Given the description of an element on the screen output the (x, y) to click on. 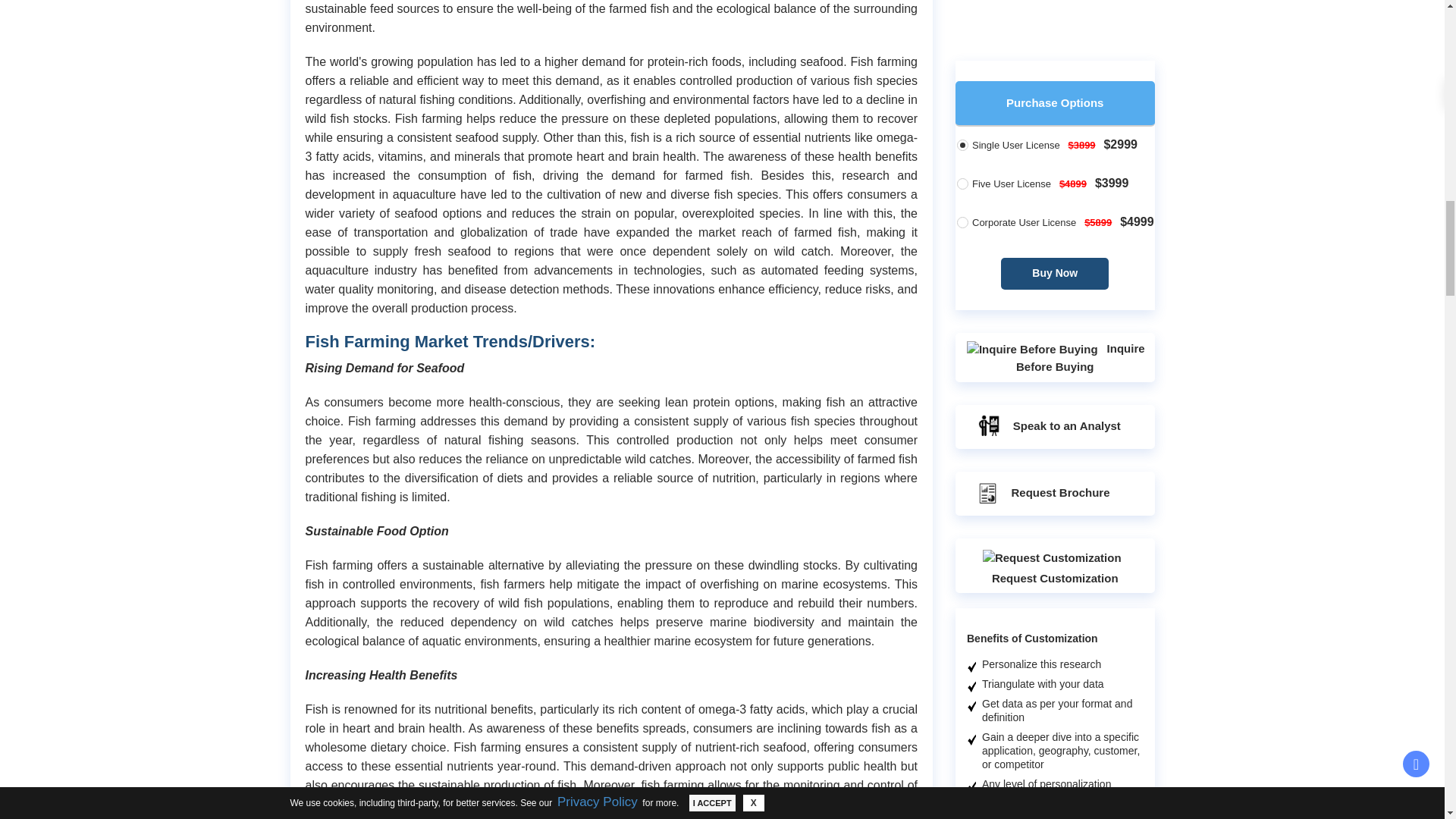
Know more (1081, 814)
Know more (1081, 549)
Know more (1081, 8)
Know more (1081, 275)
